Given the description of an element on the screen output the (x, y) to click on. 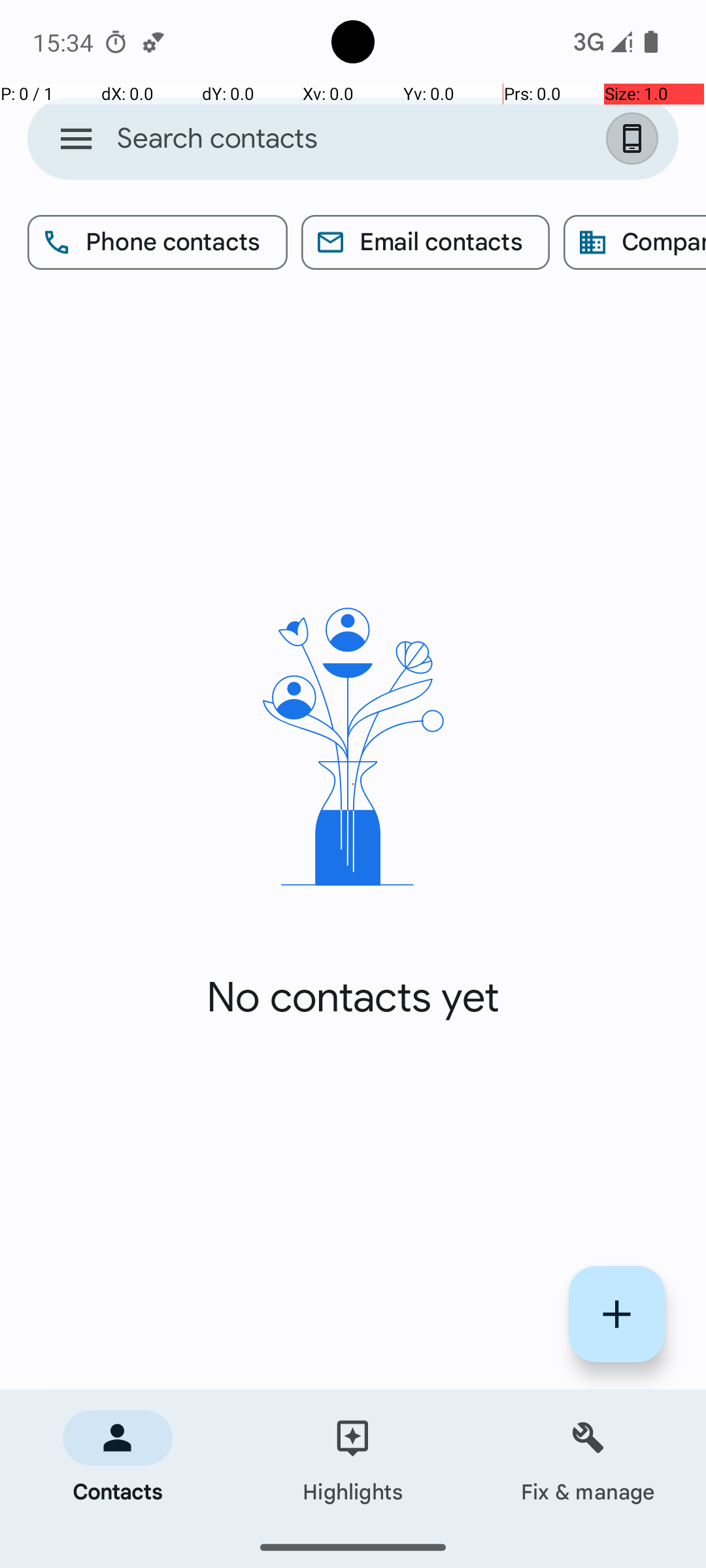
Android System notification: Wi‑Fi will turn on automatically Element type: android.widget.ImageView (153, 41)
